Given the description of an element on the screen output the (x, y) to click on. 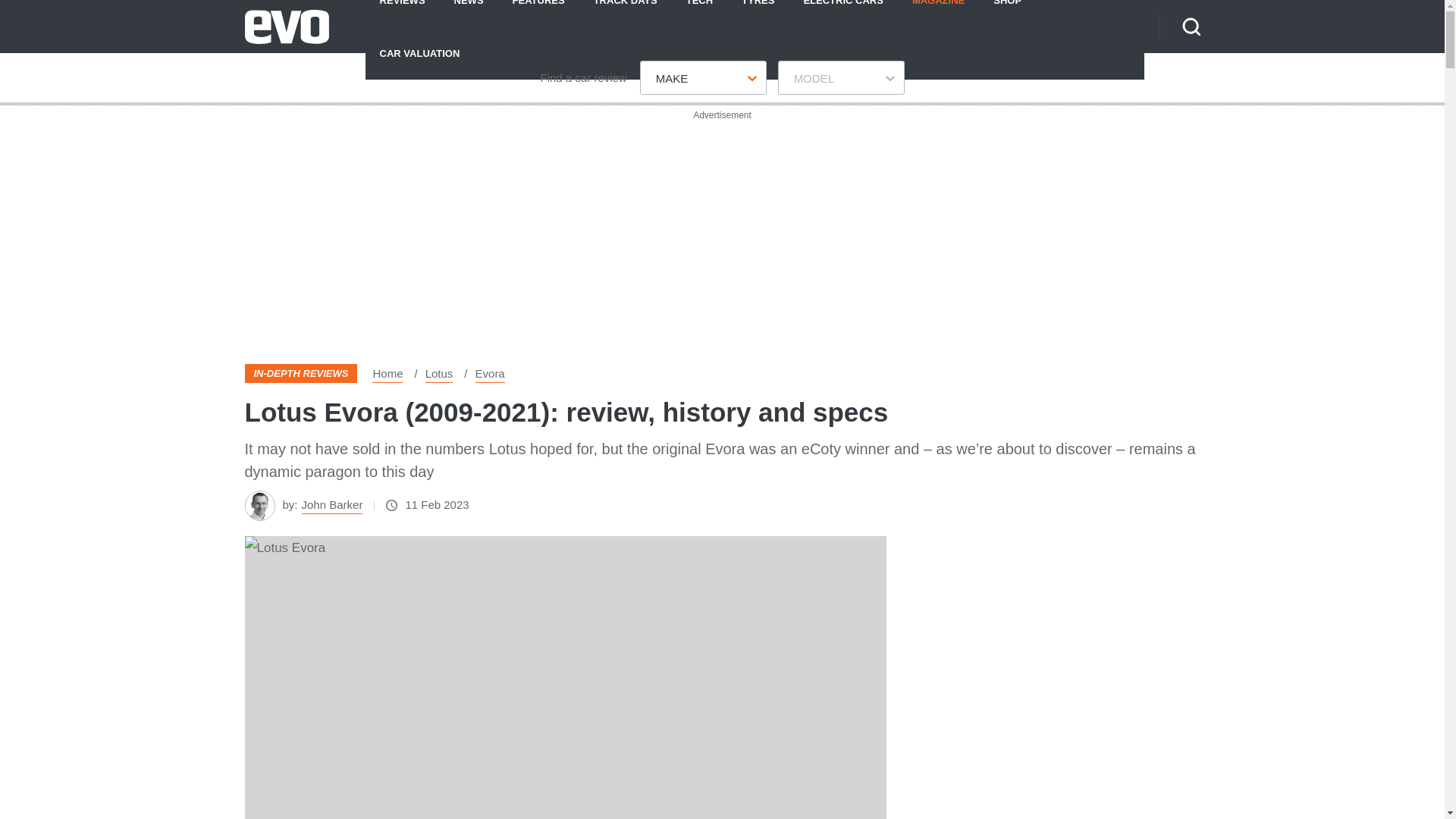
Home (387, 373)
TRACK DAYS (625, 13)
Evora (490, 373)
MAGAZINE (938, 13)
John Barker (331, 505)
REVIEWS (402, 13)
NEWS (468, 13)
FEATURES (538, 13)
CAR VALUATION (419, 52)
